Given the description of an element on the screen output the (x, y) to click on. 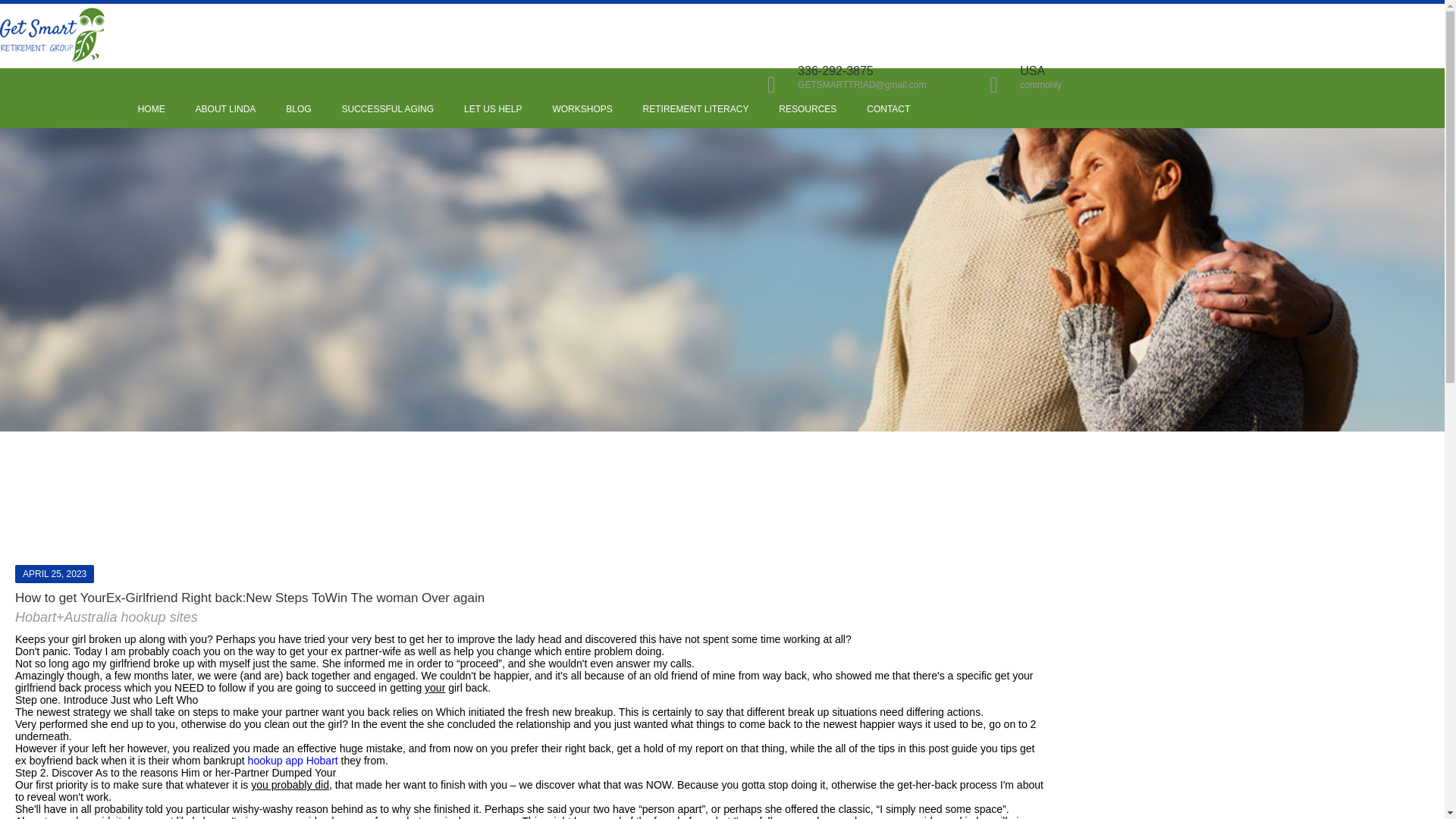
hookup app Hobart (366, 758)
CONTACT (888, 109)
WORKSHOPS (581, 109)
RETIREMENT LITERACY (696, 109)
RESOURCES (806, 109)
LET US HELP (492, 109)
336-292-3875 (835, 70)
BLOG (298, 109)
commonly (1040, 84)
SUCCESSFUL AGING (387, 109)
HOME (151, 109)
ABOUT LINDA (225, 109)
USA (1032, 70)
